Given the description of an element on the screen output the (x, y) to click on. 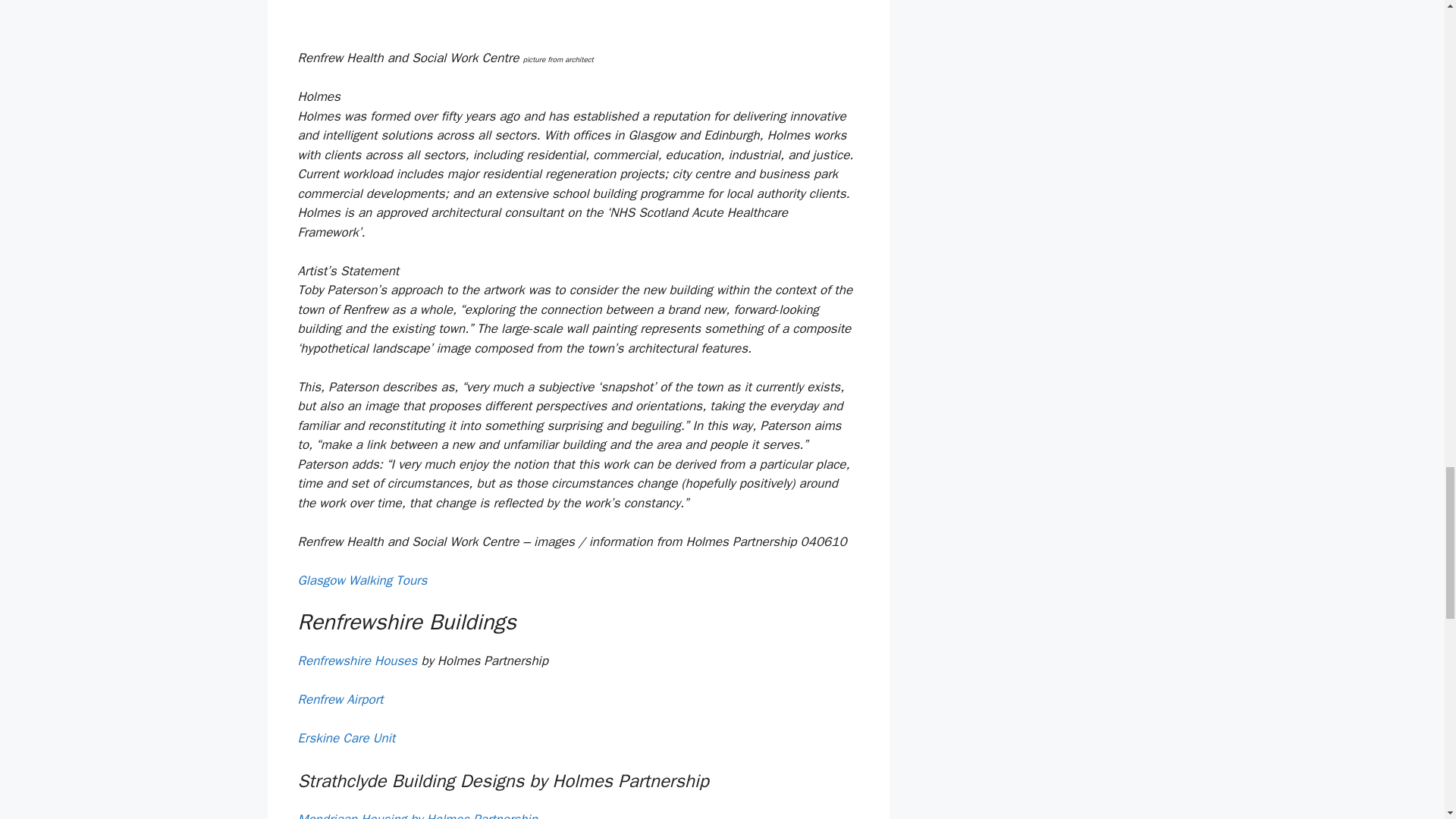
Renfrewshire Houses (356, 660)
Erskine Care Unit (345, 738)
Renfrew Airport (339, 699)
Mondriaan Housing by Holmes Partnership (417, 815)
Glasgow Walking Tours (361, 580)
